Given the description of an element on the screen output the (x, y) to click on. 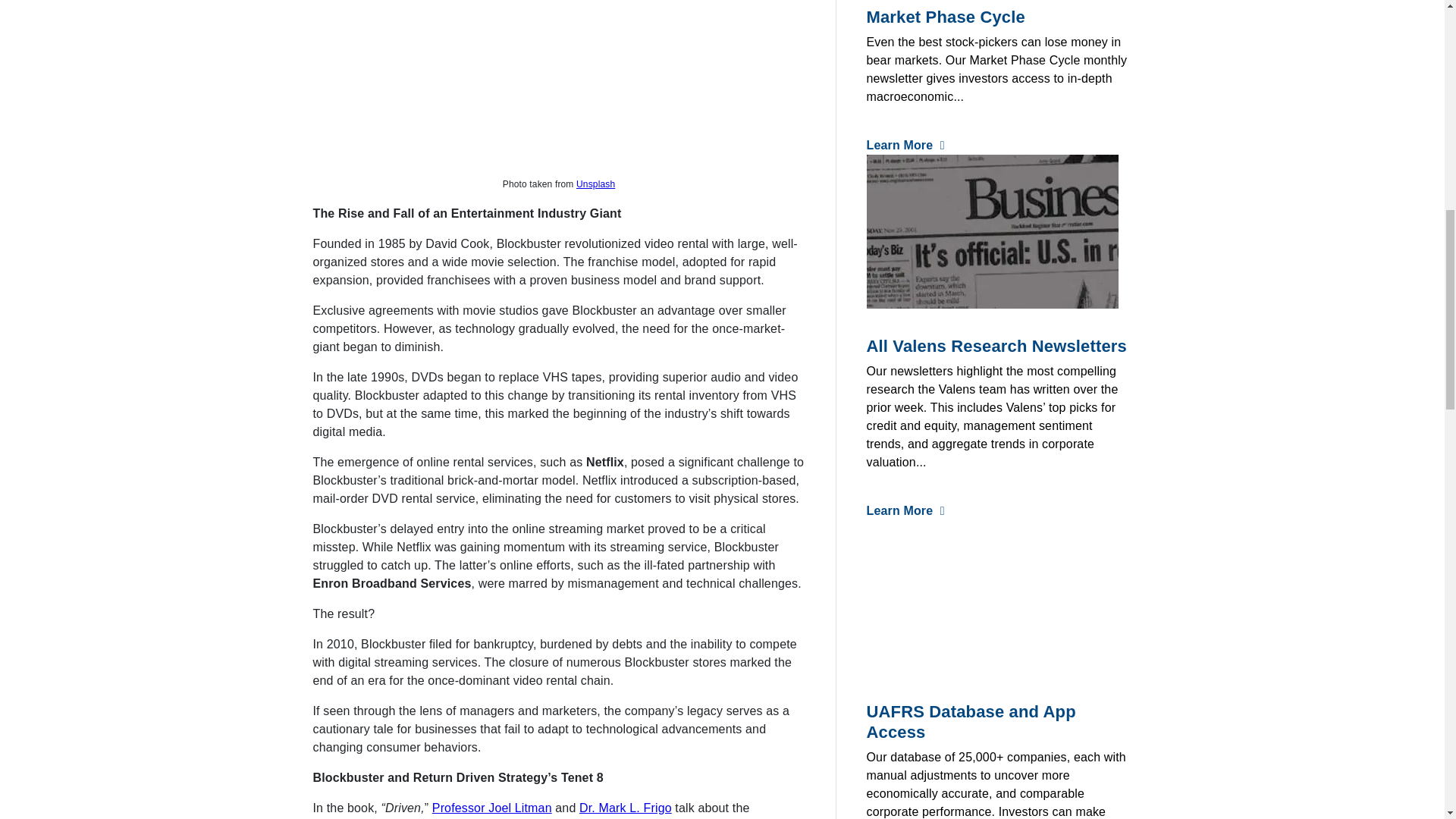
Professor Joel Litman (491, 807)
Learn More (904, 144)
Unsplash (595, 184)
Dr. Mark L. Frigo (625, 807)
